Given the description of an element on the screen output the (x, y) to click on. 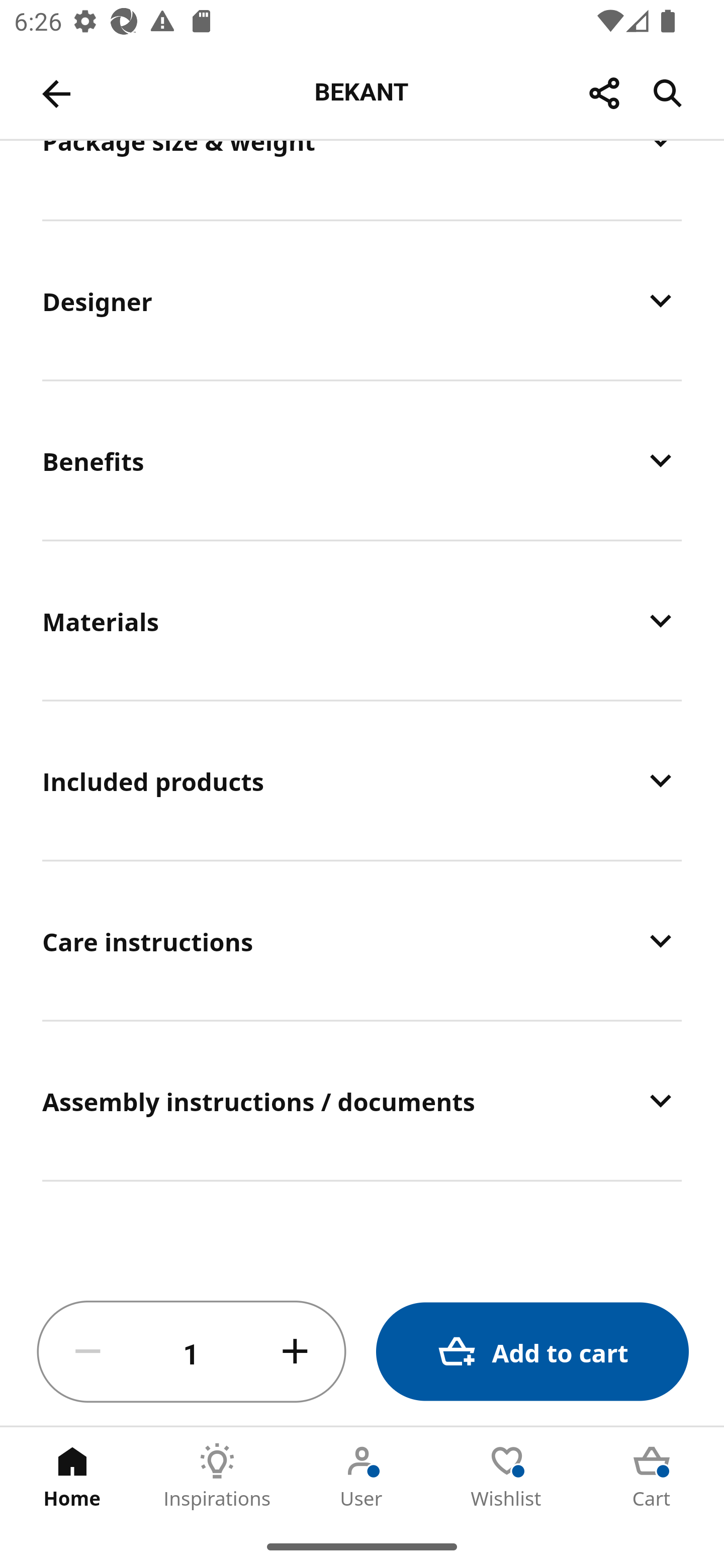
Designer (361, 299)
Benefits (361, 459)
Materials (361, 619)
Included products (361, 779)
Care instructions (361, 940)
Assembly instructions / documents (361, 1100)
Add to cart (531, 1352)
1 (191, 1352)
Home
Tab 1 of 5 (72, 1476)
Inspirations
Tab 2 of 5 (216, 1476)
User
Tab 3 of 5 (361, 1476)
Wishlist
Tab 4 of 5 (506, 1476)
Cart
Tab 5 of 5 (651, 1476)
